Given the description of an element on the screen output the (x, y) to click on. 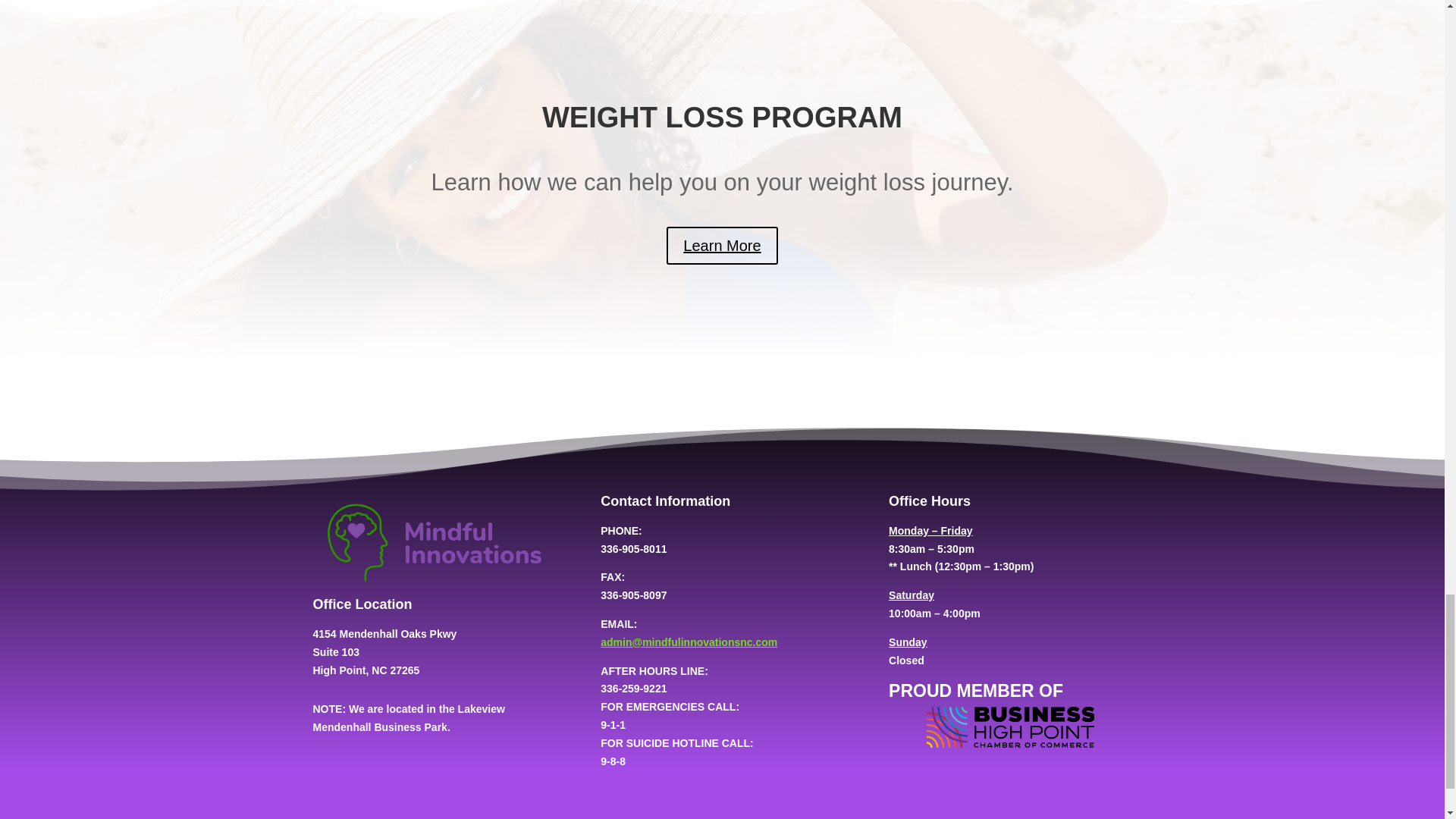
Mindful Innovations (433, 543)
Learn More (721, 245)
